Given the description of an element on the screen output the (x, y) to click on. 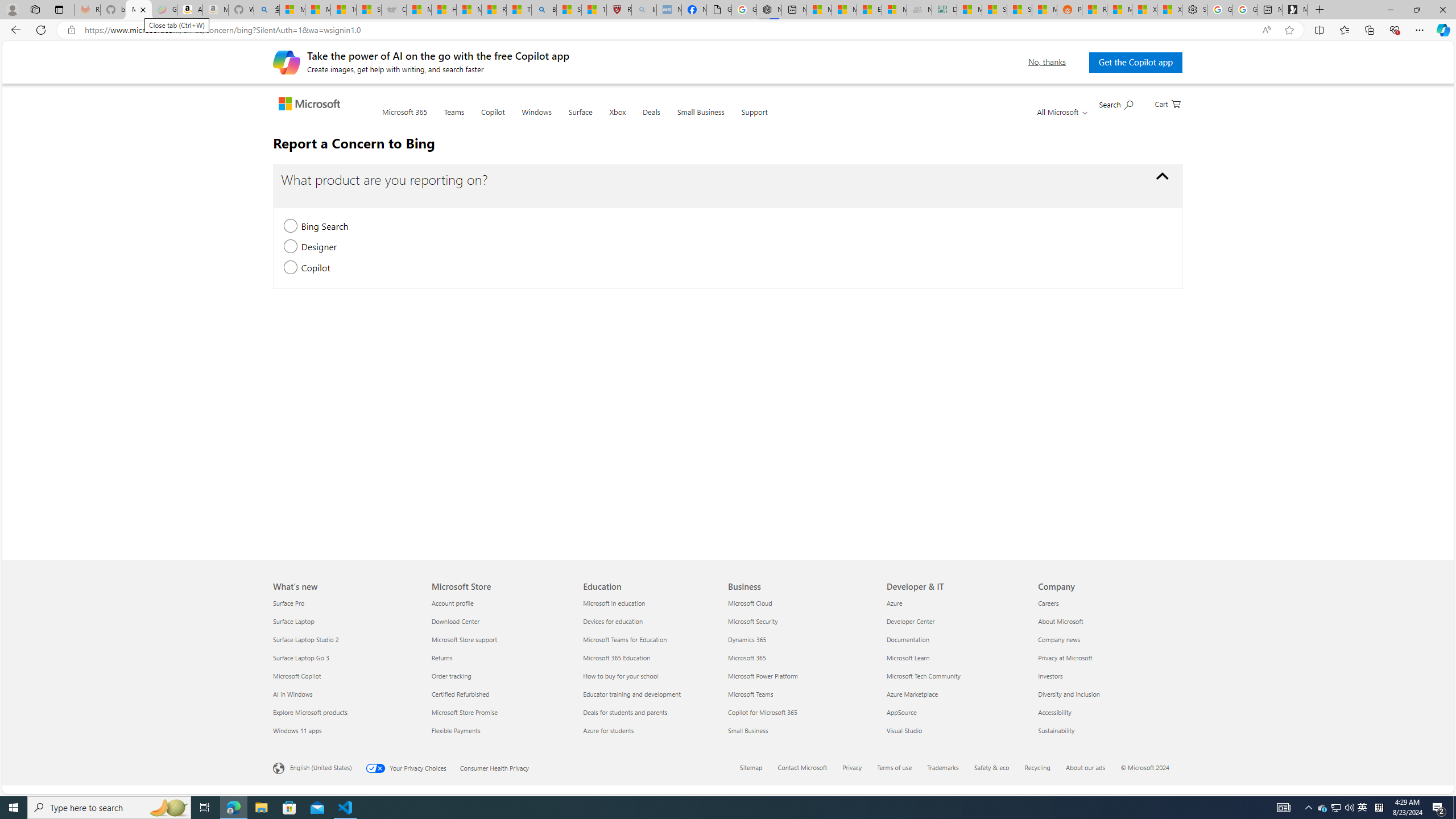
Account profile (499, 602)
Deals for students and parents (651, 711)
Account profile Microsoft Store (451, 602)
Microsoft Copilot What's new (297, 675)
Microsoft Store support (499, 638)
Dynamics 365 Business (747, 638)
Developer Center (955, 620)
Microsoft Security (800, 620)
Xbox (617, 118)
